Given the description of an element on the screen output the (x, y) to click on. 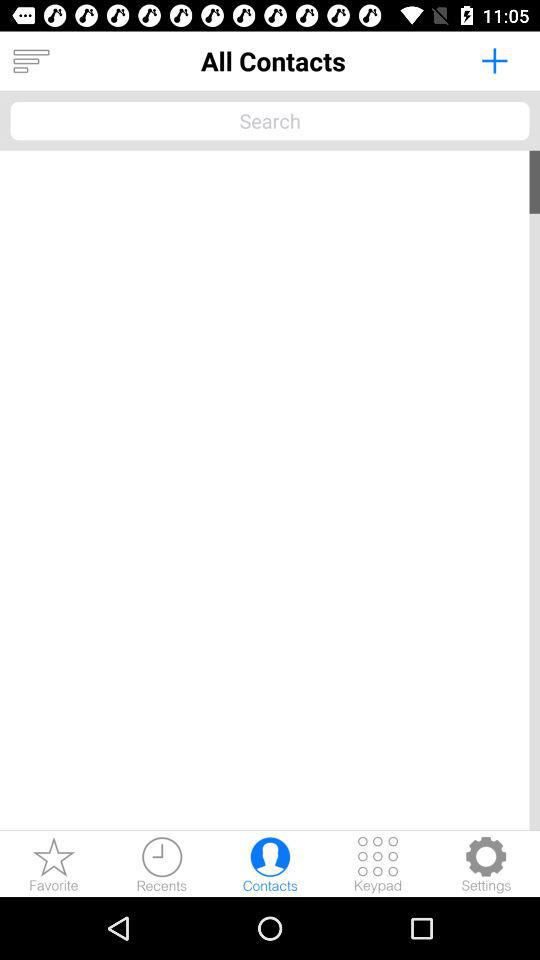
go to settings (485, 864)
